Given the description of an element on the screen output the (x, y) to click on. 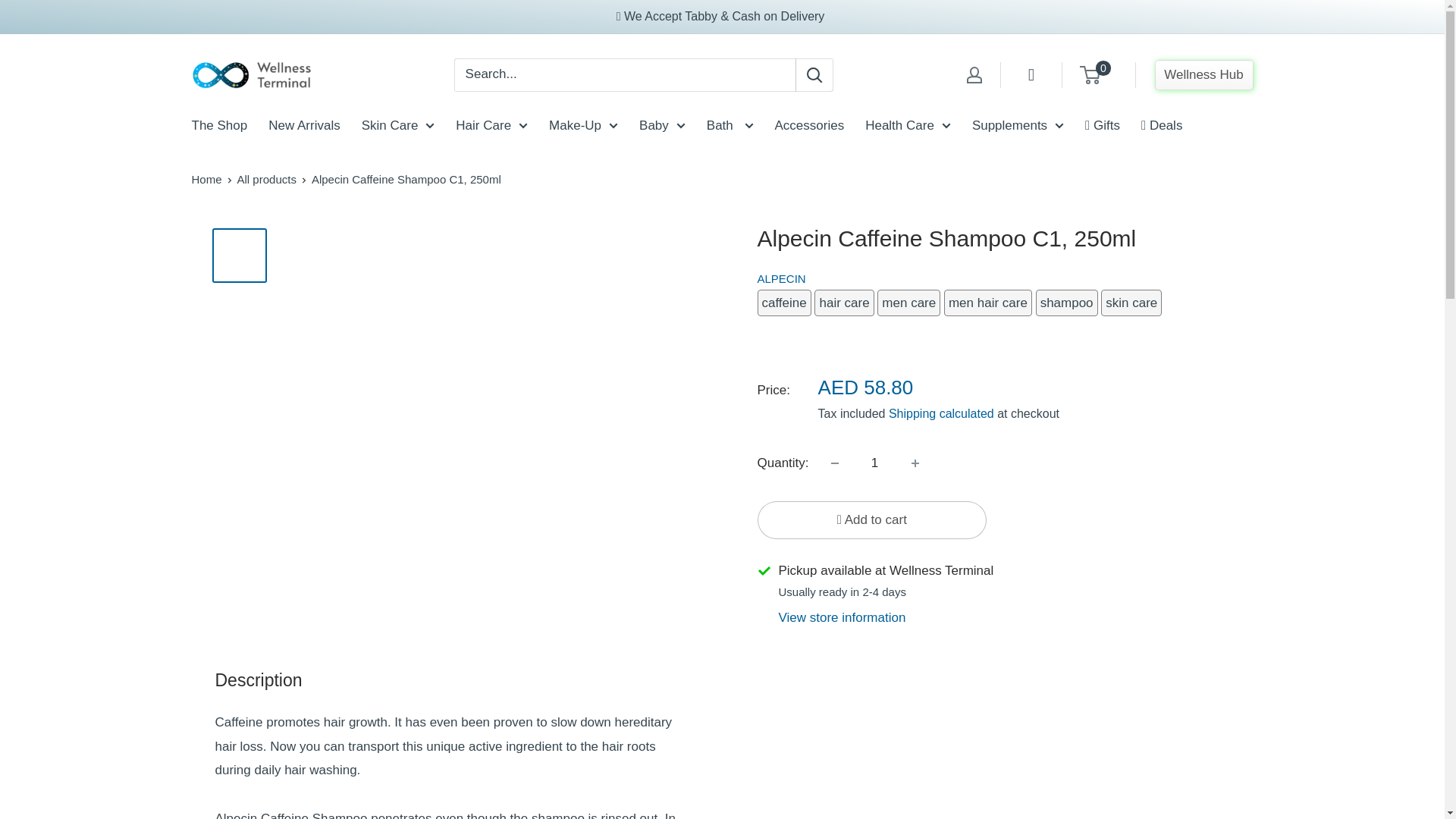
1 (874, 463)
Decrease quantity by 1 (834, 463)
Increase quantity by 1 (915, 463)
